Given the description of an element on the screen output the (x, y) to click on. 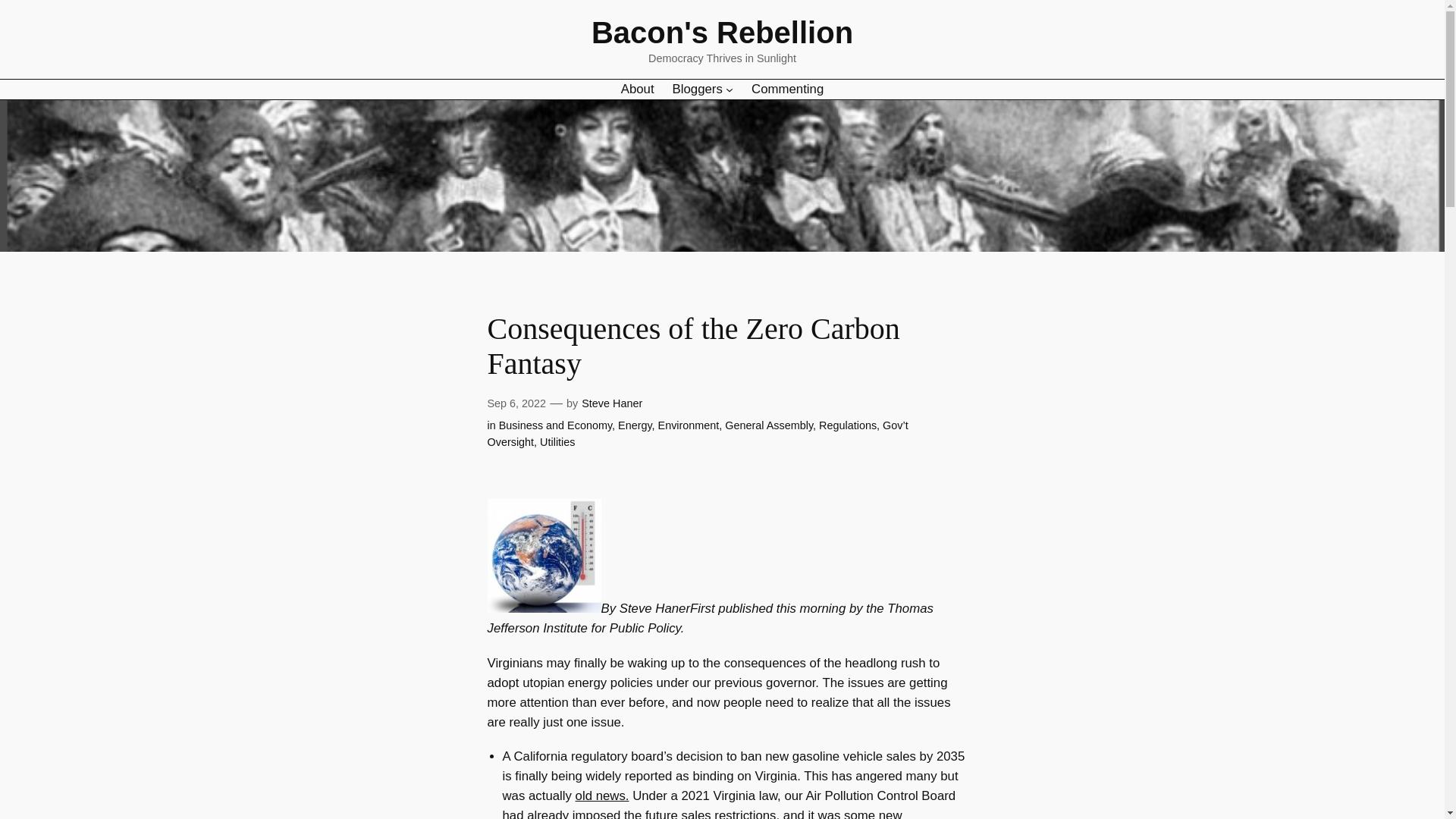
Commenting (787, 88)
Business and Economy (555, 425)
Bacon's Rebellion (722, 32)
Energy (634, 425)
Bloggers (697, 88)
old news. (601, 795)
Steve Haner (611, 403)
About (637, 88)
Utilities (557, 441)
Environment (688, 425)
Sep 6, 2022 (516, 403)
General Assembly (768, 425)
